Given the description of an element on the screen output the (x, y) to click on. 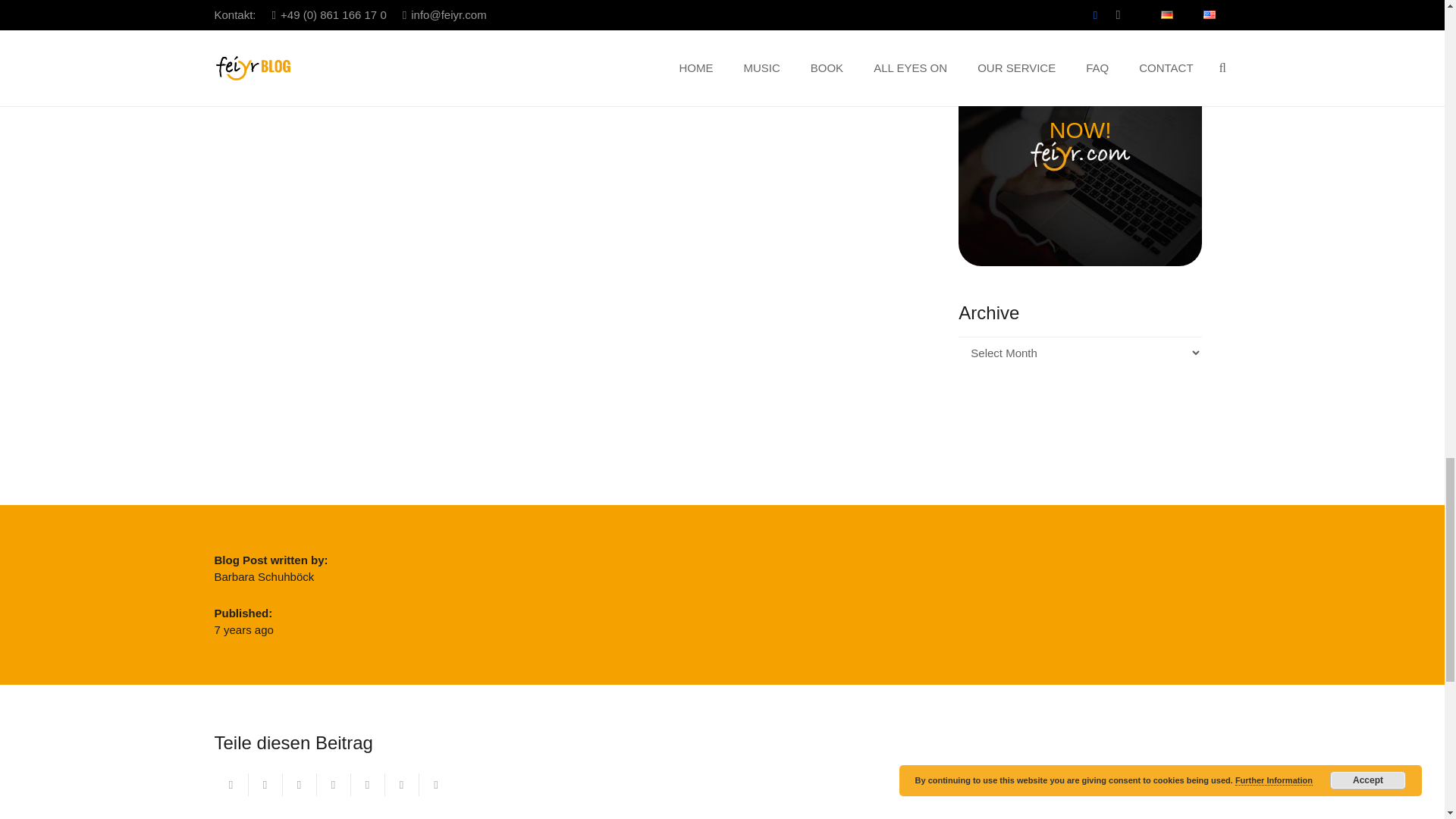
Share this (367, 784)
Share this (333, 784)
Share this (402, 784)
Share this (435, 784)
Tweet this (298, 784)
Email this (230, 784)
Share this (265, 784)
